Given the description of an element on the screen output the (x, y) to click on. 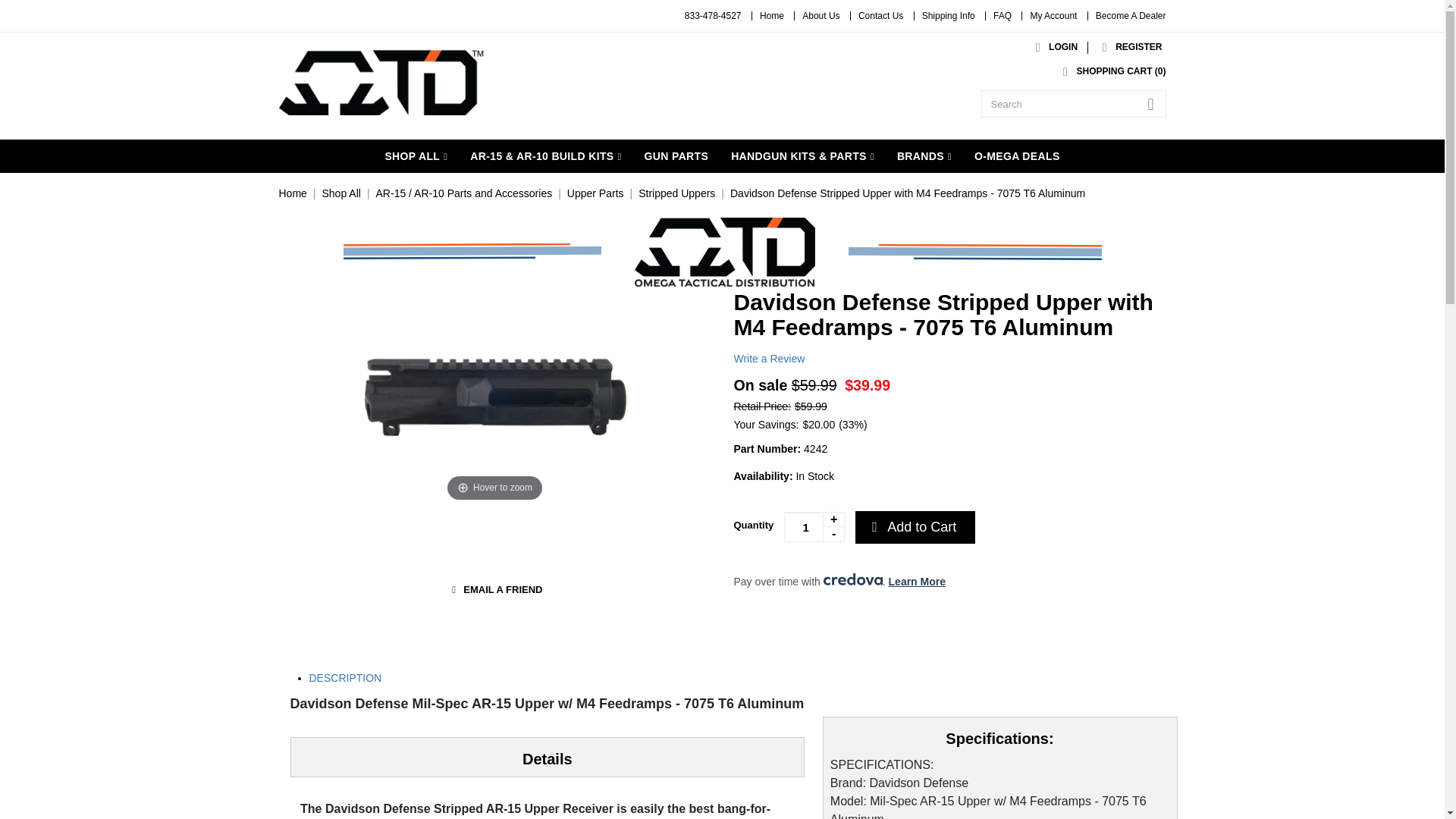
833-478-4527 (712, 15)
About Us (821, 15)
Home (772, 15)
Become A Dealer (1131, 15)
1 (814, 526)
FAQ (1001, 15)
LOGIN (1053, 46)
GUN PARTS (676, 155)
REGISTER (1128, 46)
Shipping Info (948, 15)
